Given the description of an element on the screen output the (x, y) to click on. 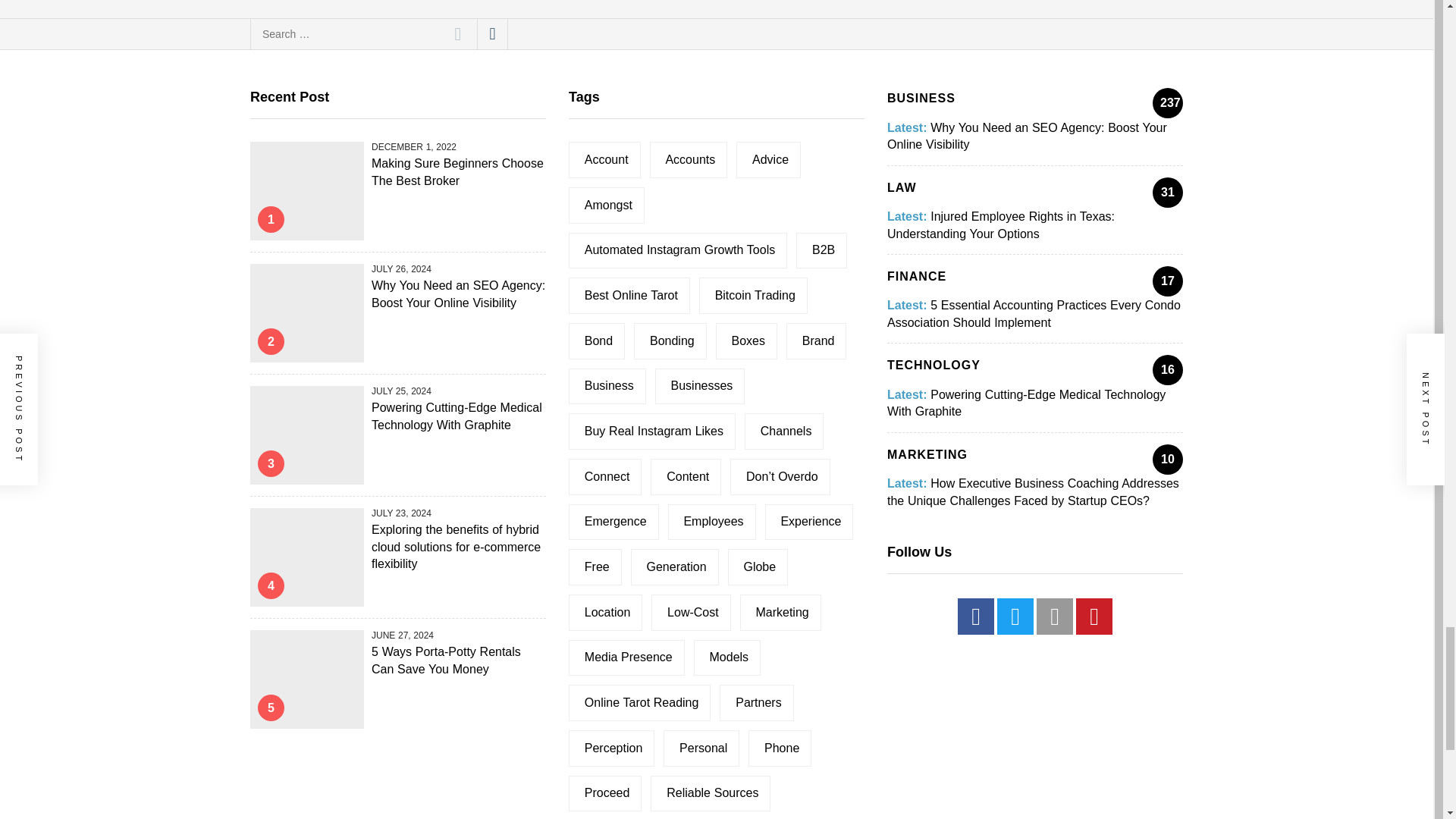
Twitter (1015, 616)
Pinterest (1093, 616)
Search (458, 33)
Facebook (976, 616)
Search (458, 33)
LinkedIn (1054, 616)
